Given the description of an element on the screen output the (x, y) to click on. 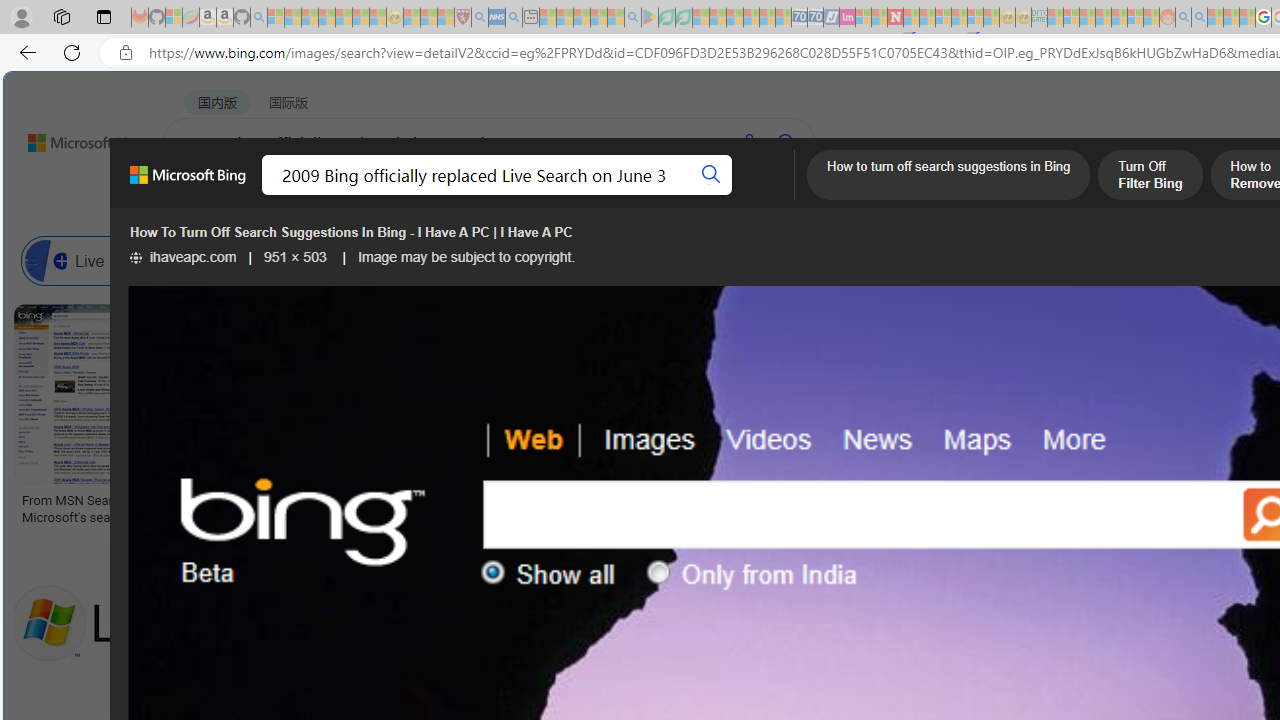
Live Search (100, 260)
Bing Ai Search Engine Powered (830, 260)
Bing Picture Search Engine (492, 260)
Microsoft Live Logo (598, 500)
Bing Logo and symbol, meaning, history, PNG, brand (418, 508)
utah sues federal government - Search - Sleeping (513, 17)
Bing Word Search (710, 260)
